Given the description of an element on the screen output the (x, y) to click on. 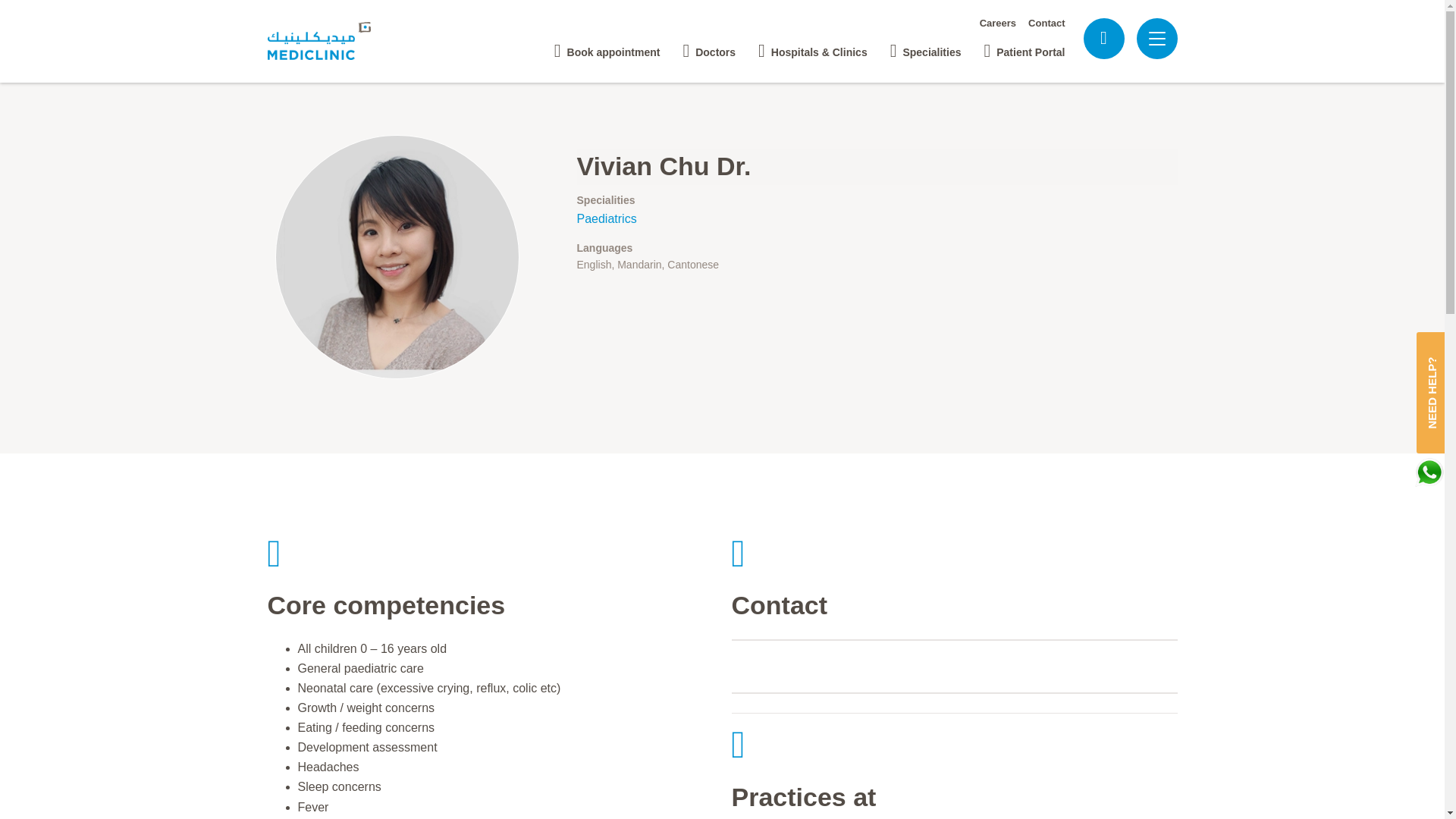
Contact (1045, 22)
Mediclinic Logo (331, 40)
Patient Portal (1024, 45)
Book appointment (607, 45)
Doctors (708, 45)
Careers (997, 22)
Menu (1155, 38)
Search (1103, 38)
Specialities (924, 45)
